Given the description of an element on the screen output the (x, y) to click on. 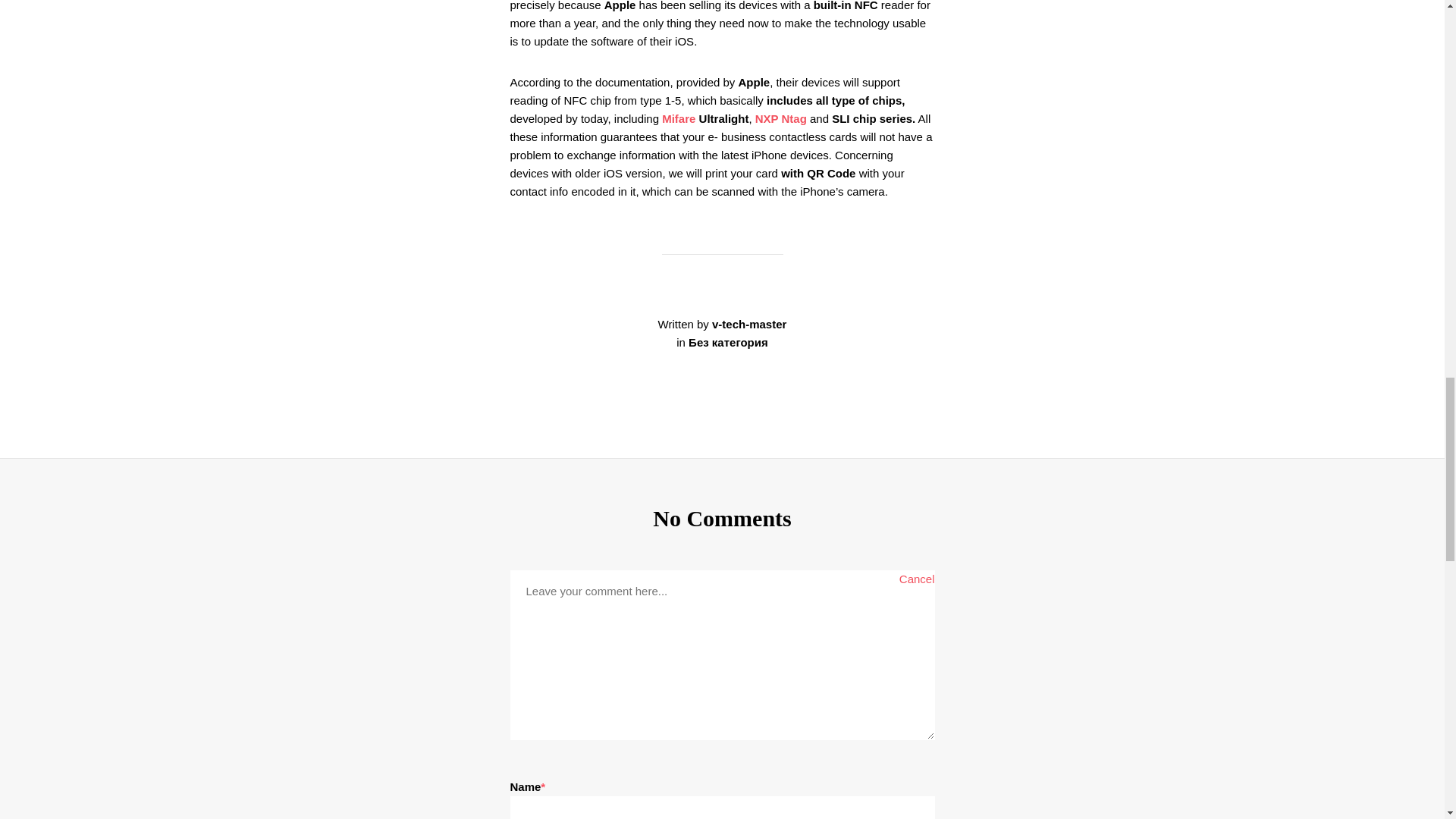
Mifare (678, 118)
Cancel (916, 579)
NXP Ntag (780, 118)
v-tech-master (748, 323)
View all posts by v-tech-master (748, 323)
